Given the description of an element on the screen output the (x, y) to click on. 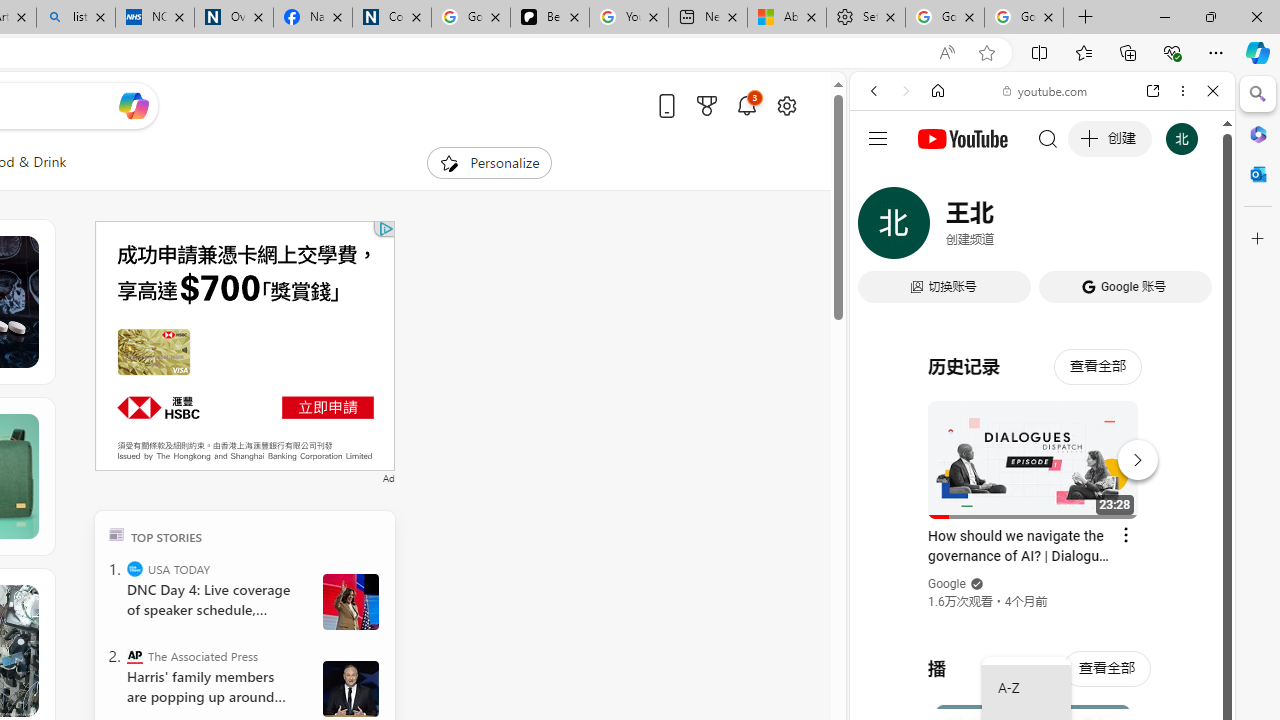
Forward (906, 91)
Class: qc-adchoices-icon (386, 228)
Search Filter, VIDEOS (1006, 228)
NCL Adult Asthma Inhaler Choice Guideline (155, 17)
Trailer #2 [HD] (1042, 592)
A-Z (1026, 688)
